Given the description of an element on the screen output the (x, y) to click on. 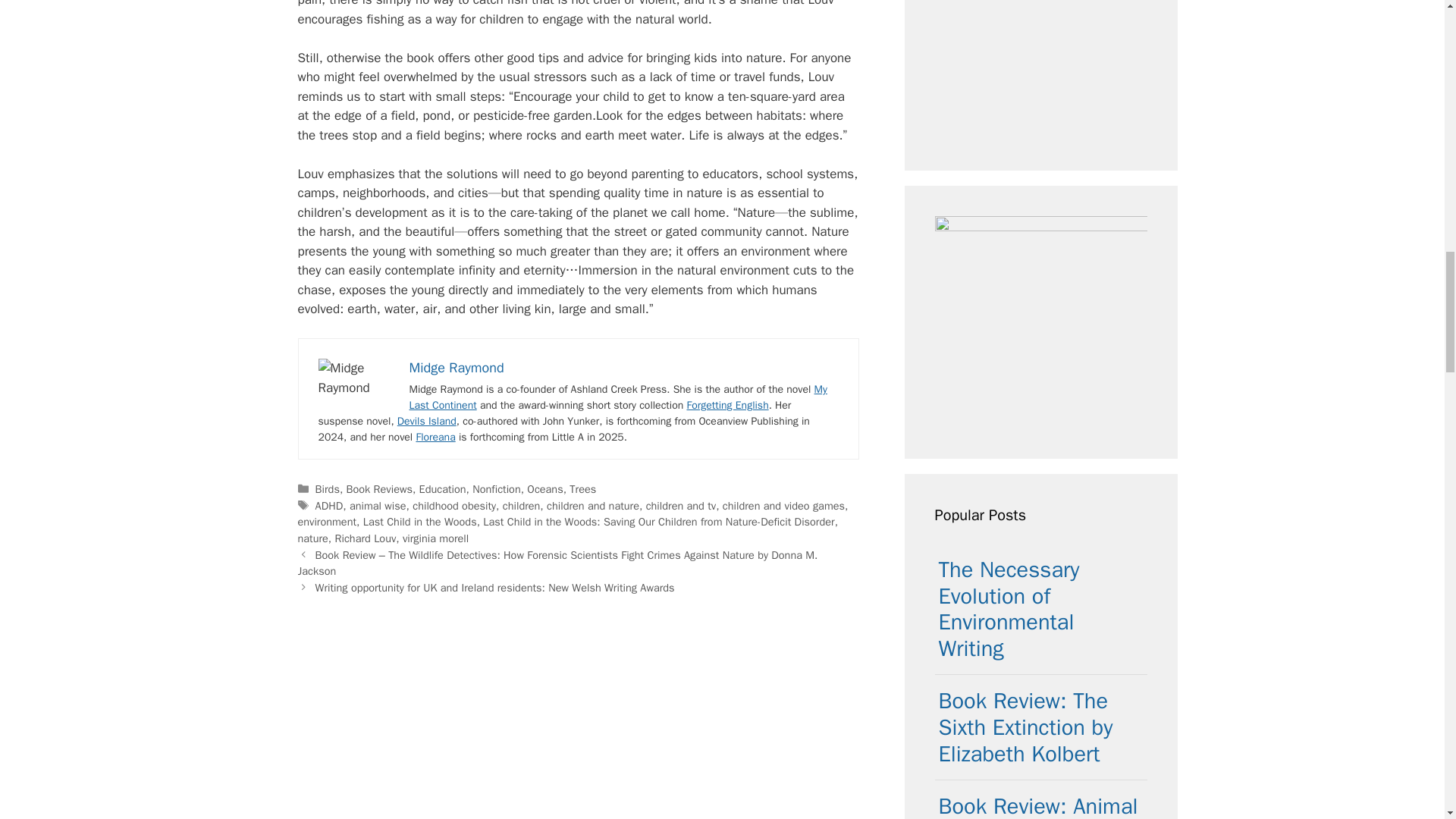
The Necessary Evolution of Environmental Writing (1009, 609)
Book Review: The Sixth Extinction by Elizabeth Kolbert (1026, 727)
